Given the description of an element on the screen output the (x, y) to click on. 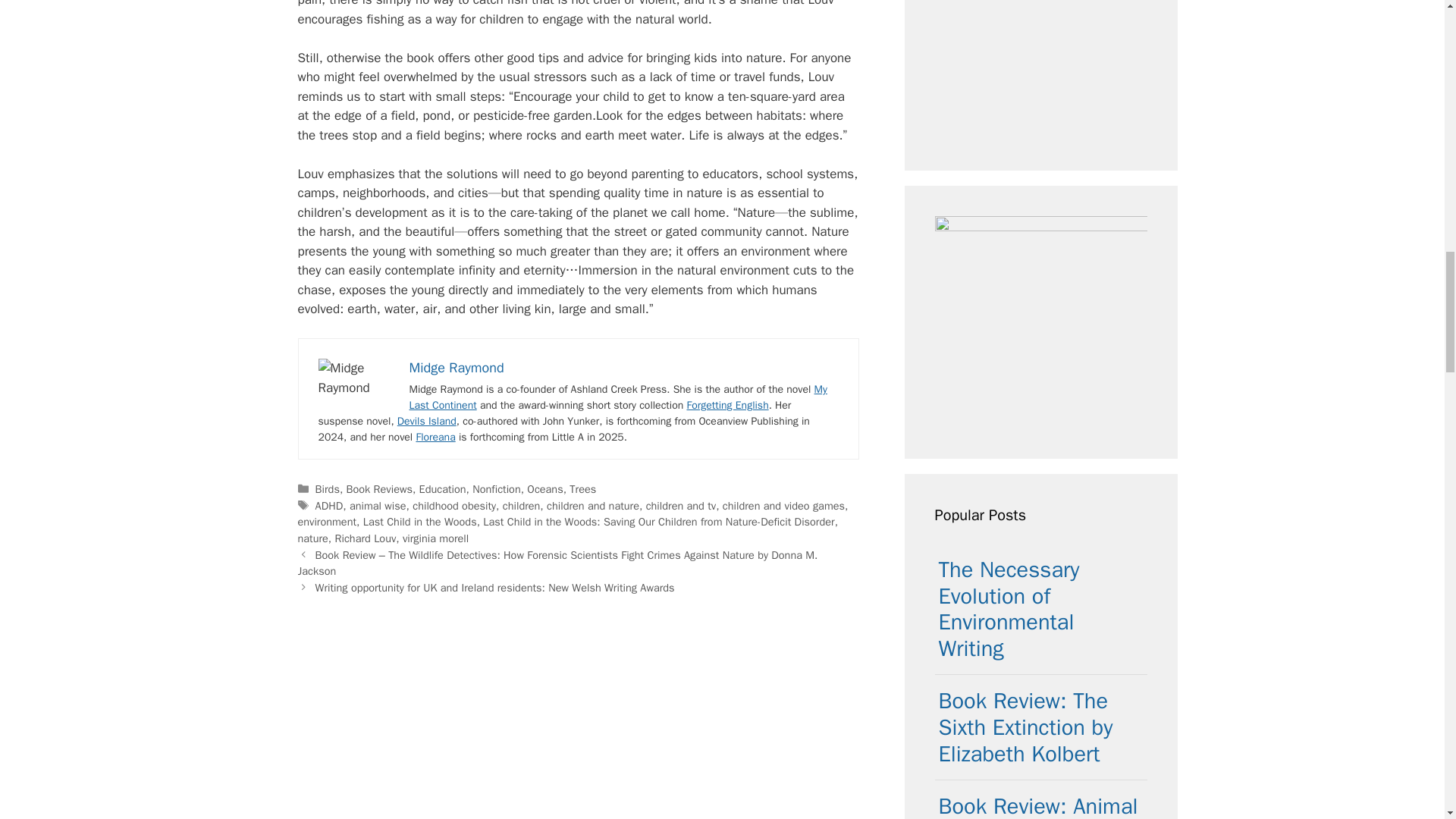
The Necessary Evolution of Environmental Writing (1009, 609)
Book Review: The Sixth Extinction by Elizabeth Kolbert (1026, 727)
